Given the description of an element on the screen output the (x, y) to click on. 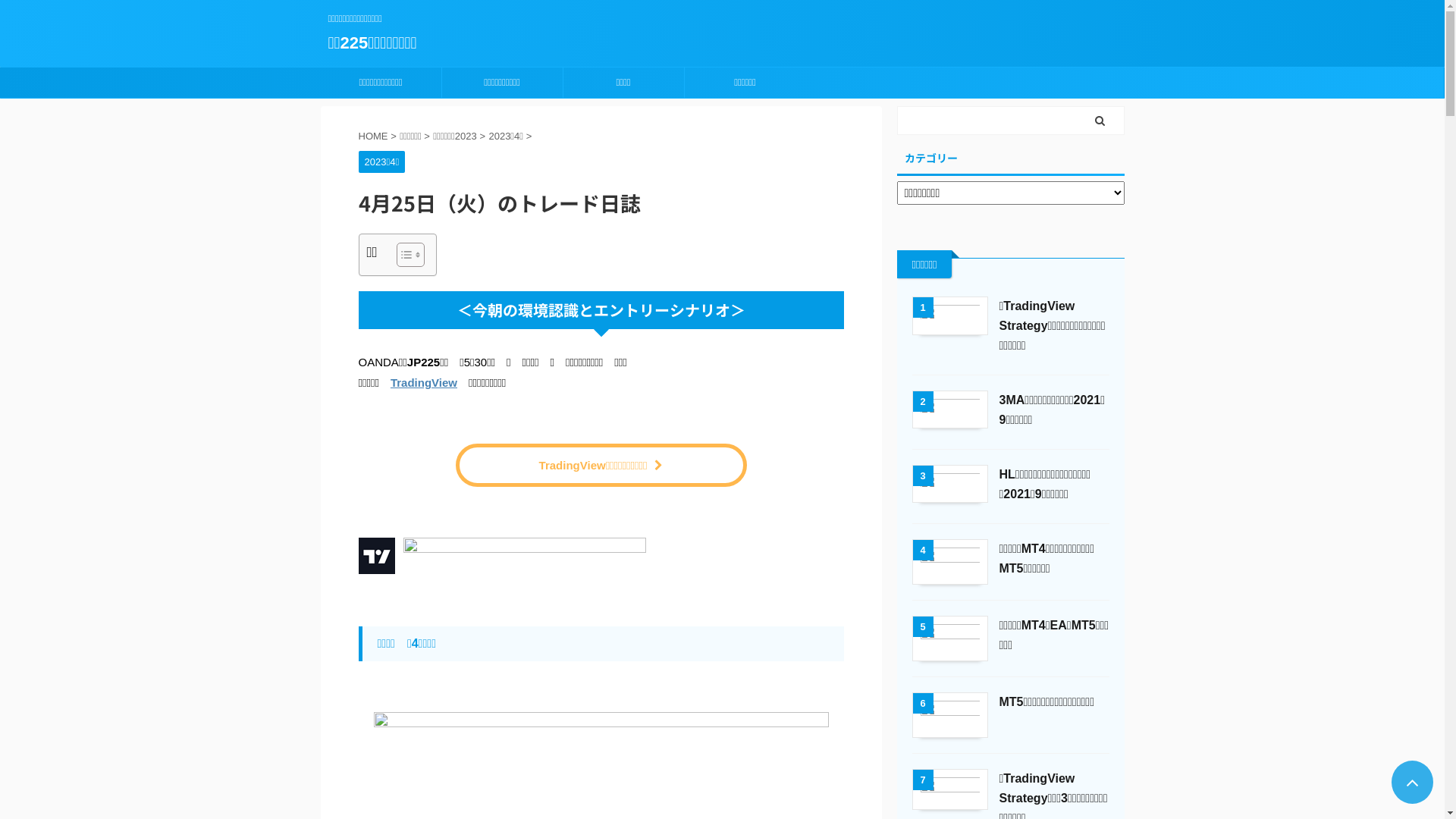
TradingView Element type: text (423, 382)
HOME Element type: text (373, 135)
